Given the description of an element on the screen output the (x, y) to click on. 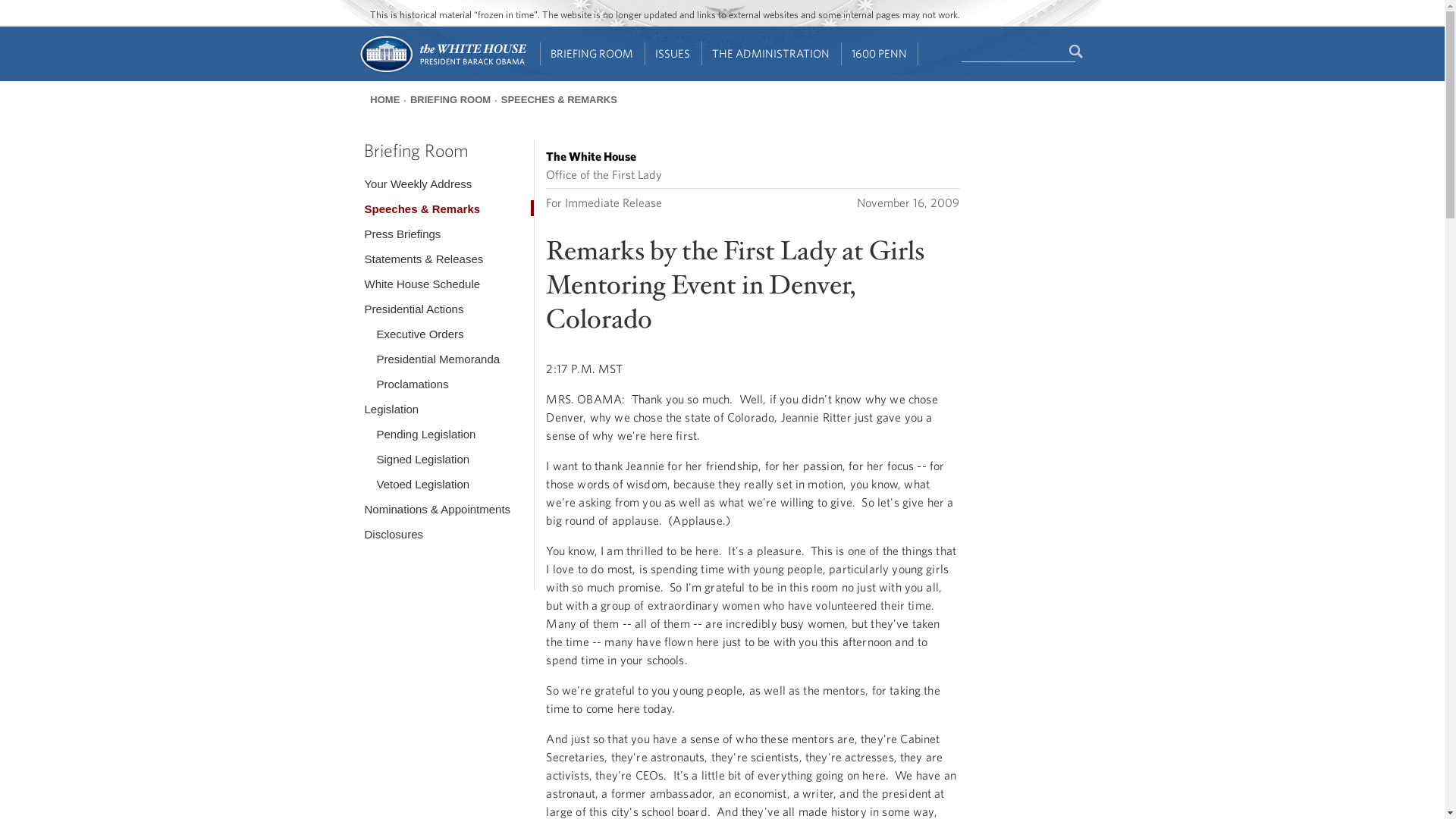
Home (441, 70)
ISSUES (673, 53)
Search (1076, 51)
BRIEFING ROOM (592, 53)
Enter the terms you wish to search for. (1017, 52)
